Given the description of an element on the screen output the (x, y) to click on. 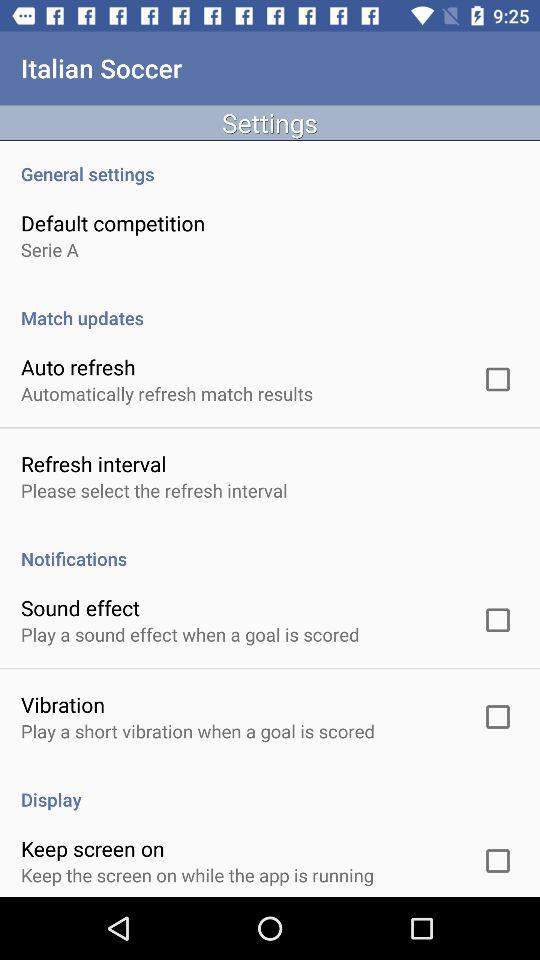
click match updates (270, 307)
